Given the description of an element on the screen output the (x, y) to click on. 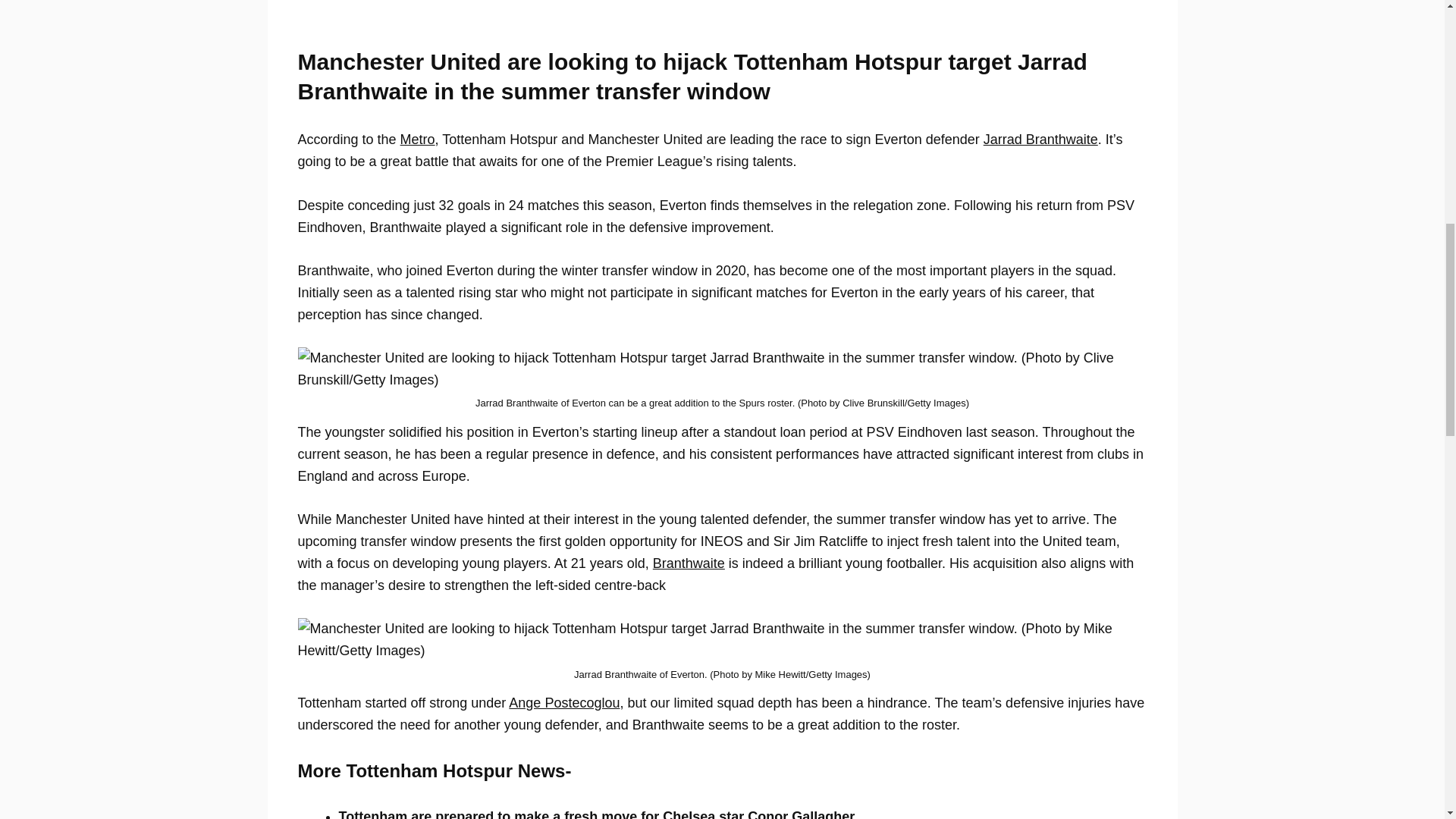
Jarrad Branthwaite (1040, 139)
Metro (417, 139)
